Given the description of an element on the screen output the (x, y) to click on. 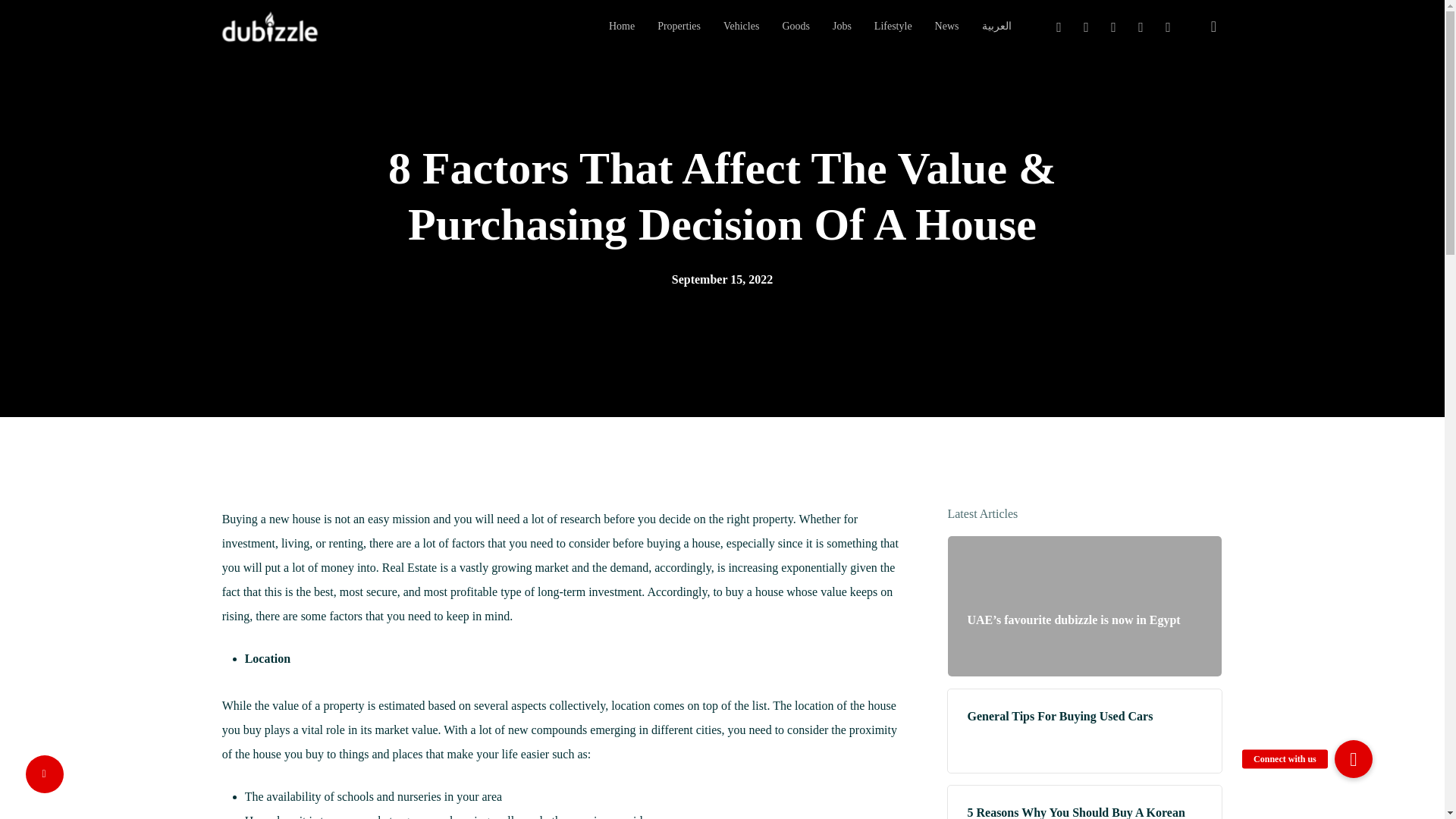
Lifestyle (893, 26)
search (1213, 26)
Youtube (1140, 27)
Twitter (1058, 27)
Home (621, 26)
Jobs (842, 26)
Linkedin (1112, 27)
Facebook (1085, 27)
Goods (795, 26)
Properties (678, 26)
